Given the description of an element on the screen output the (x, y) to click on. 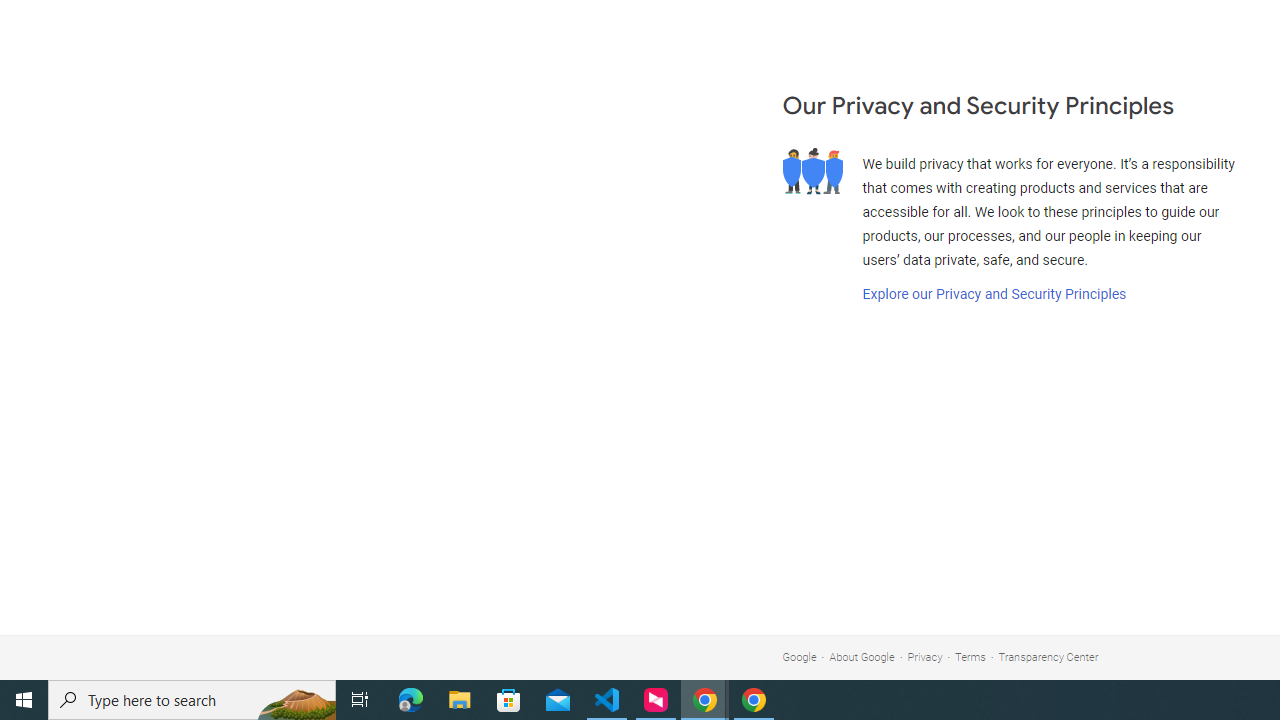
Explore our Privacy and Security Principles (993, 294)
Transparency Center (1048, 656)
About Google (861, 656)
